Given the description of an element on the screen output the (x, y) to click on. 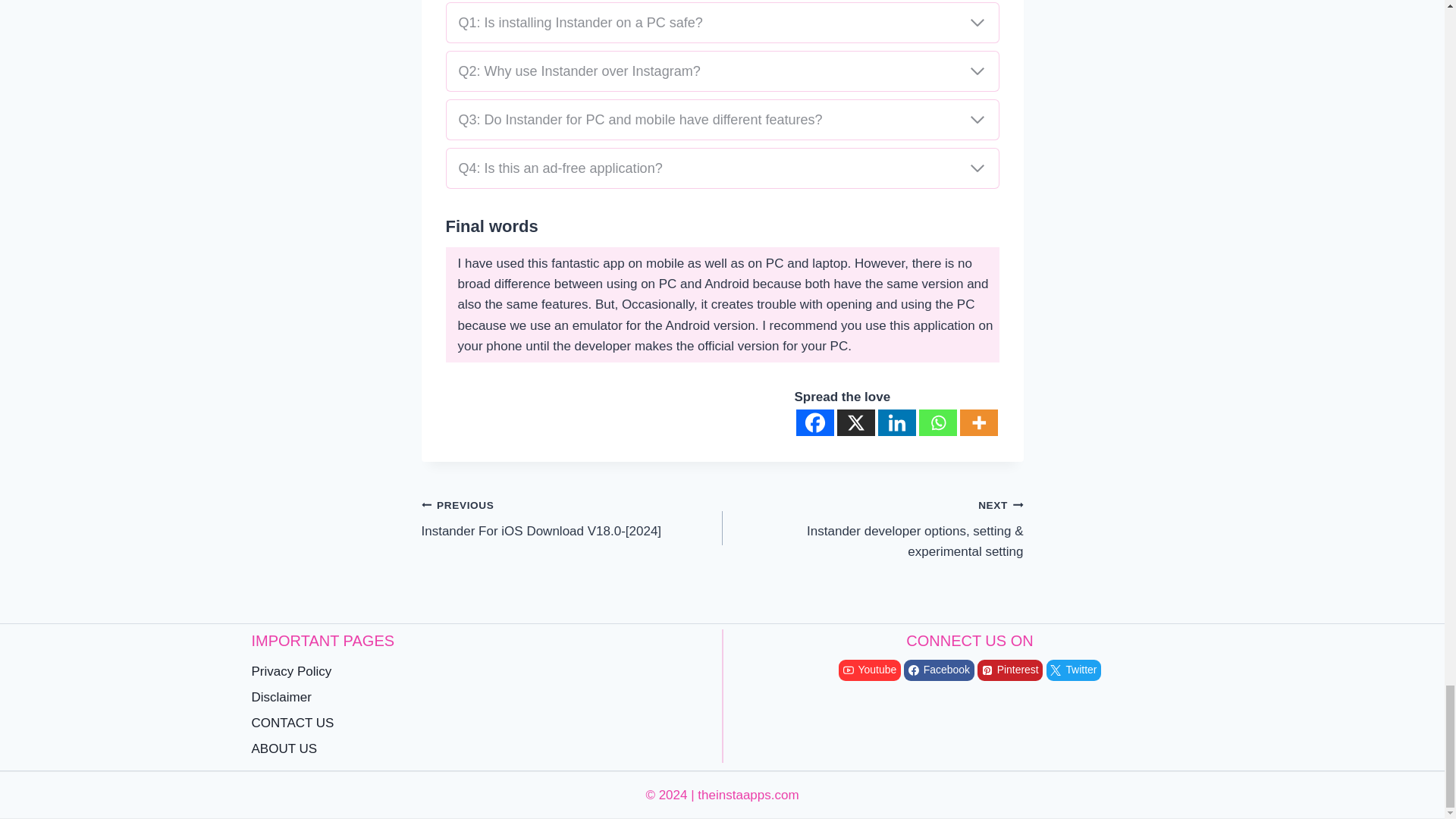
CONTACT US (474, 724)
Disclaimer (474, 698)
Whatsapp (937, 422)
Privacy Policy (474, 672)
X (856, 422)
Linkedin (896, 422)
More (978, 422)
Q2: Why use Instander over Instagram? (721, 70)
Q3: Do Instander for PC and mobile have different features? (721, 119)
Facebook (815, 422)
ABOUT US (474, 749)
Q1: Is installing Instander on a PC safe? (721, 22)
Q4: Is this an ad-free application? (721, 168)
